Given the description of an element on the screen output the (x, y) to click on. 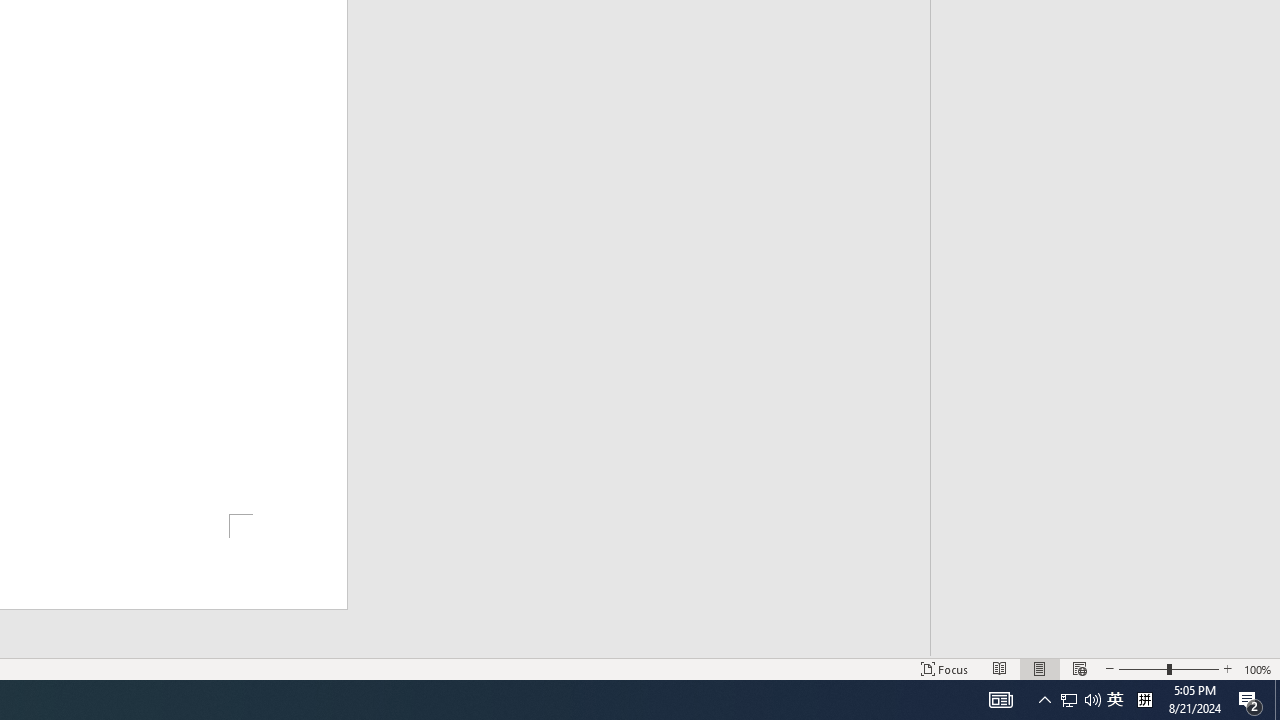
Zoom 100% (1258, 668)
